Given the description of an element on the screen output the (x, y) to click on. 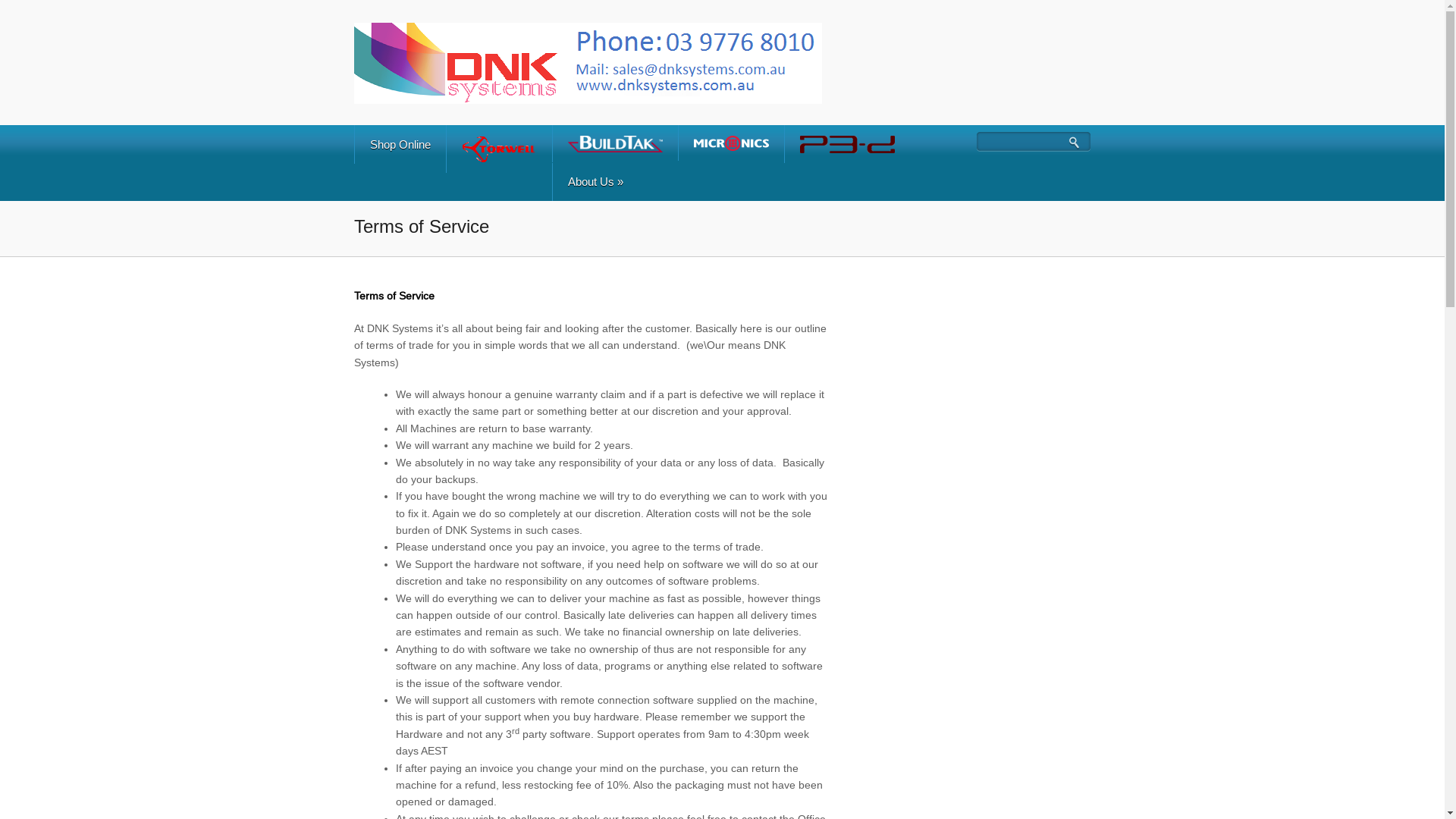
BuildTak Element type: hover (614, 142)
P-3d Perfromance Nozzles Element type: hover (847, 143)
Torwell Filaments Element type: hover (498, 148)
Shop Online Element type: text (399, 144)
Micronics Aust Element type: hover (730, 142)
Torwell Filaments Element type: hover (498, 148)
